Given the description of an element on the screen output the (x, y) to click on. 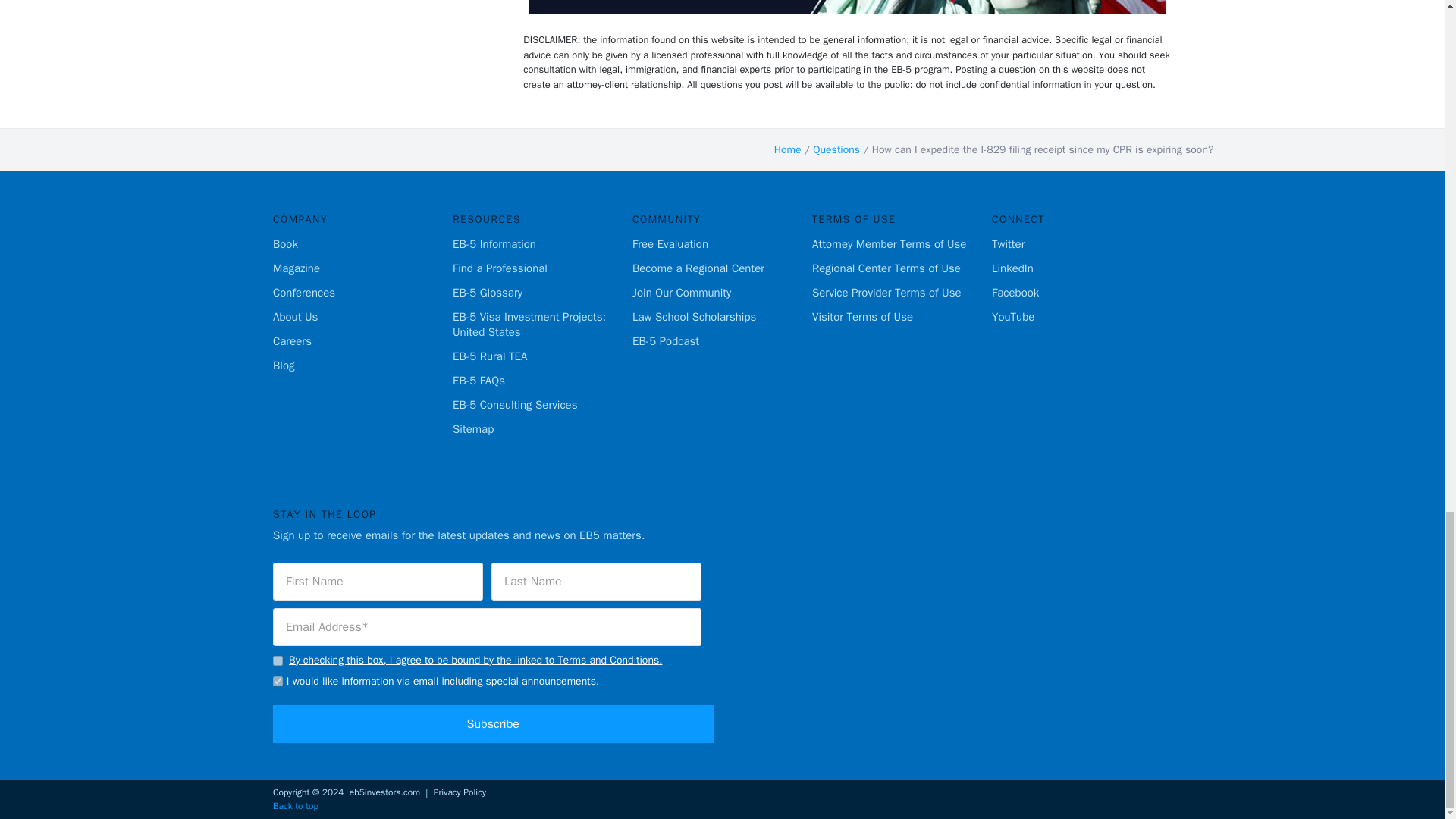
Subscribe (493, 723)
1 (277, 660)
